Given the description of an element on the screen output the (x, y) to click on. 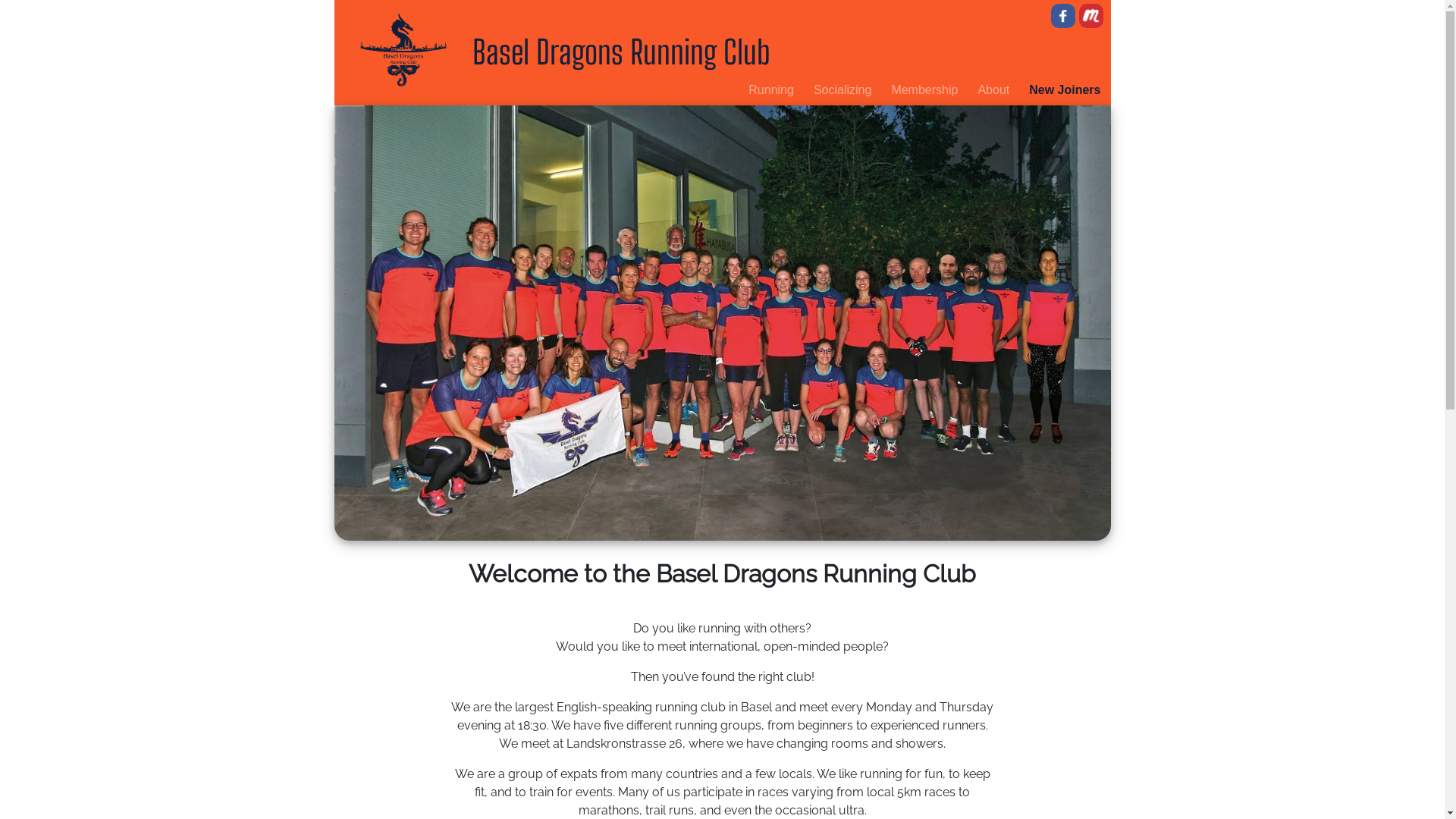
Membership Element type: text (923, 90)
Socializing Element type: text (842, 90)
Basel Dragons Running Club Element type: text (620, 51)
New Joiners Element type: text (1064, 90)
Running Element type: text (771, 90)
About Element type: text (993, 90)
